Given the description of an element on the screen output the (x, y) to click on. 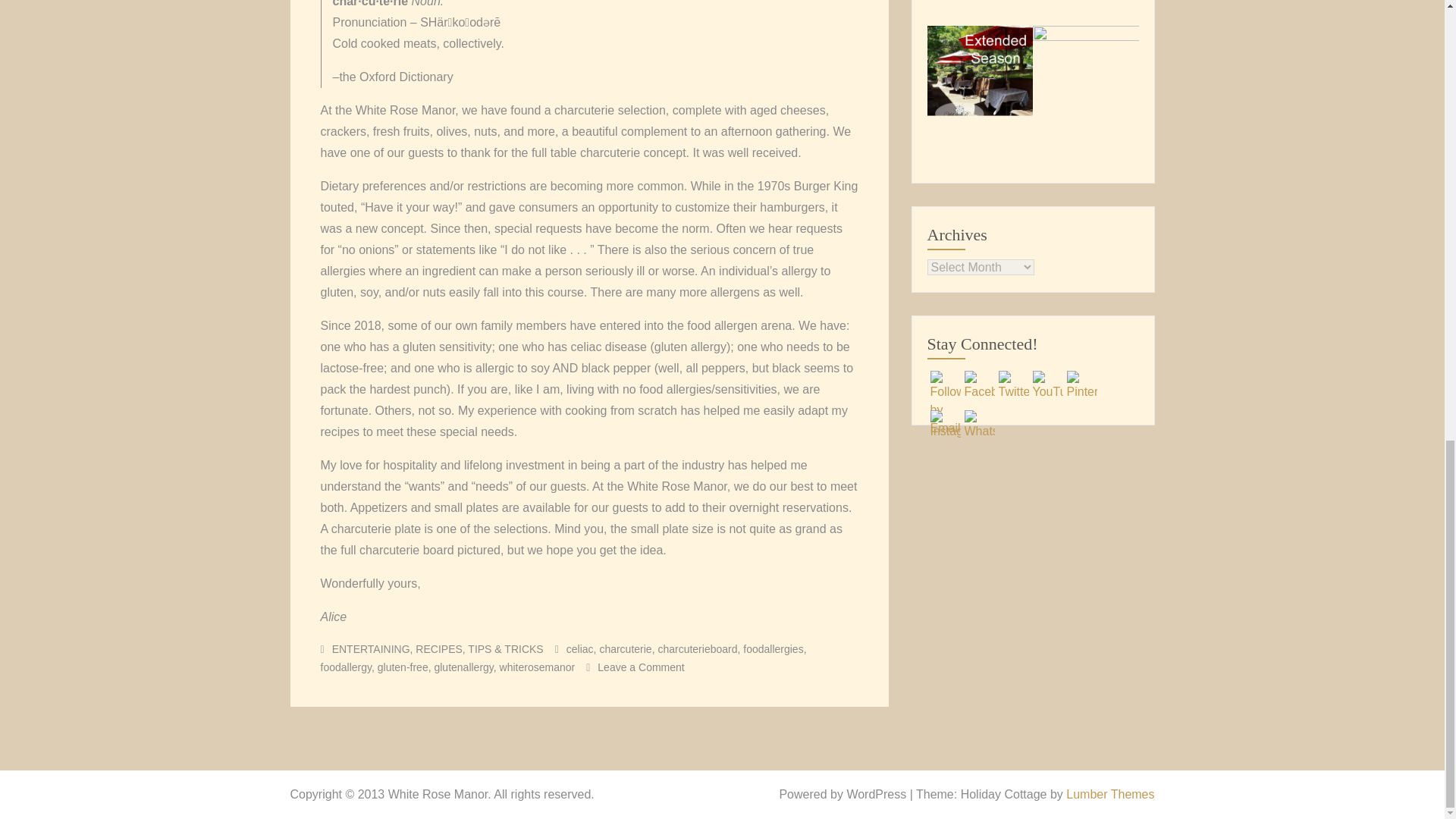
Pinterest (1080, 386)
RECIPES (437, 648)
ENTERTAINING (370, 648)
Instagram (944, 425)
YouTube (1047, 386)
Facebook (978, 386)
Twitter (1012, 386)
